Given the description of an element on the screen output the (x, y) to click on. 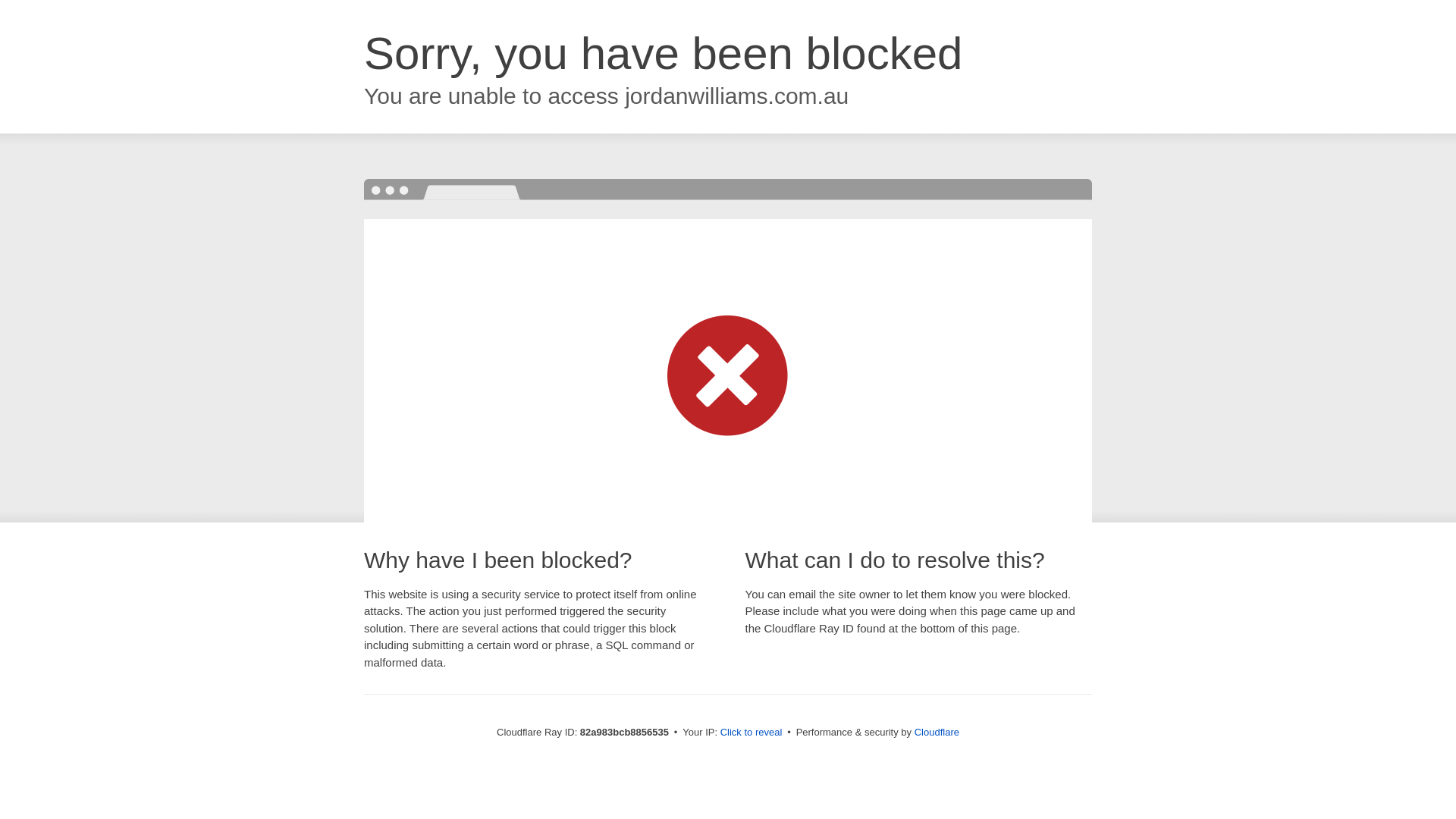
Click to reveal Element type: text (751, 732)
Cloudflare Element type: text (936, 731)
